Given the description of an element on the screen output the (x, y) to click on. 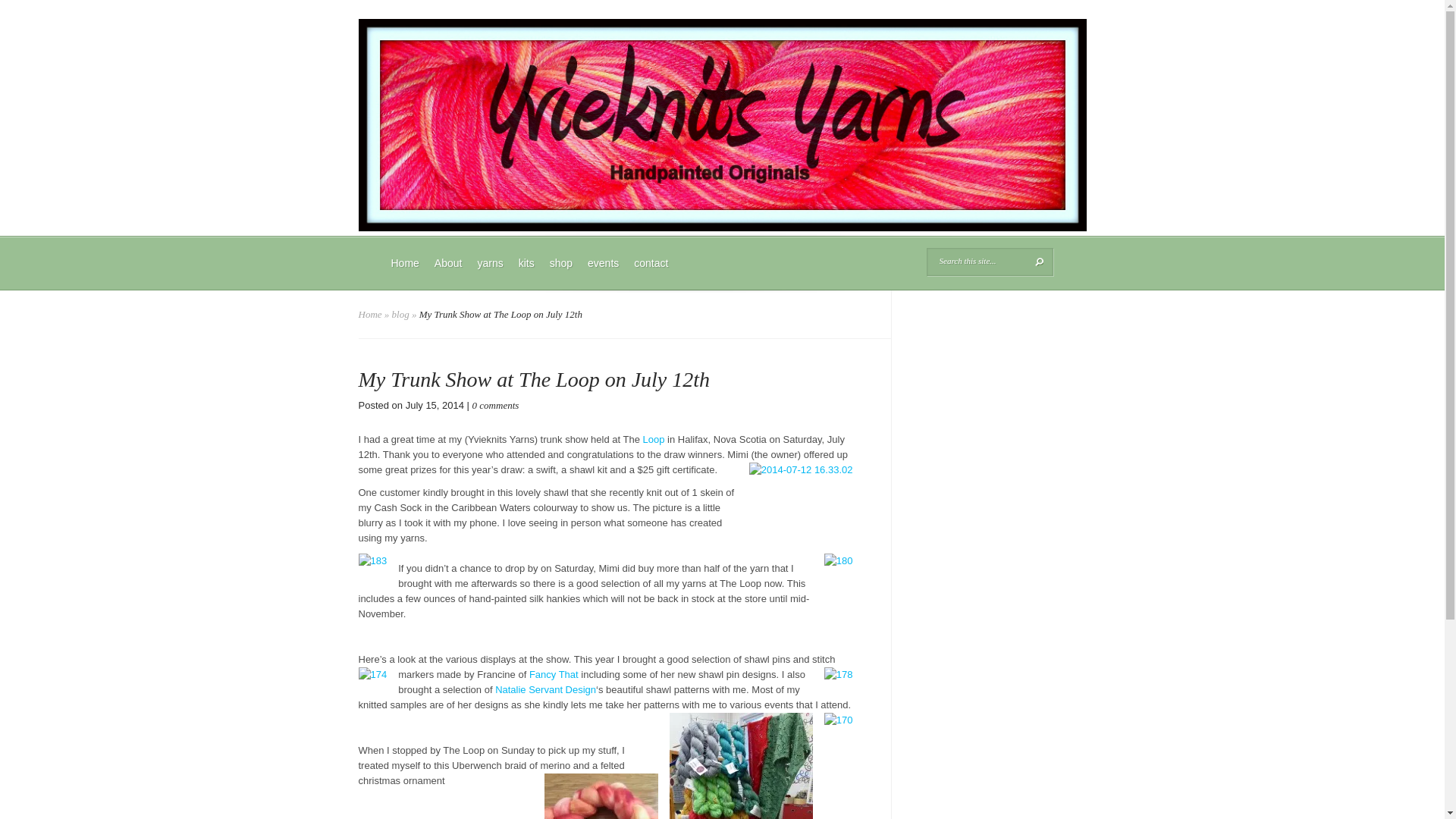
Search this site... (979, 260)
Natalie Servant Design (545, 689)
shop (560, 272)
events (602, 272)
Natalie Servant Designs (545, 689)
Home (405, 272)
contact (650, 272)
Fancy That (553, 674)
Fancy That (553, 674)
blog (400, 314)
The Loop (655, 439)
0 comments (495, 405)
Loop (655, 439)
yarns (489, 272)
About (448, 272)
